Given the description of an element on the screen output the (x, y) to click on. 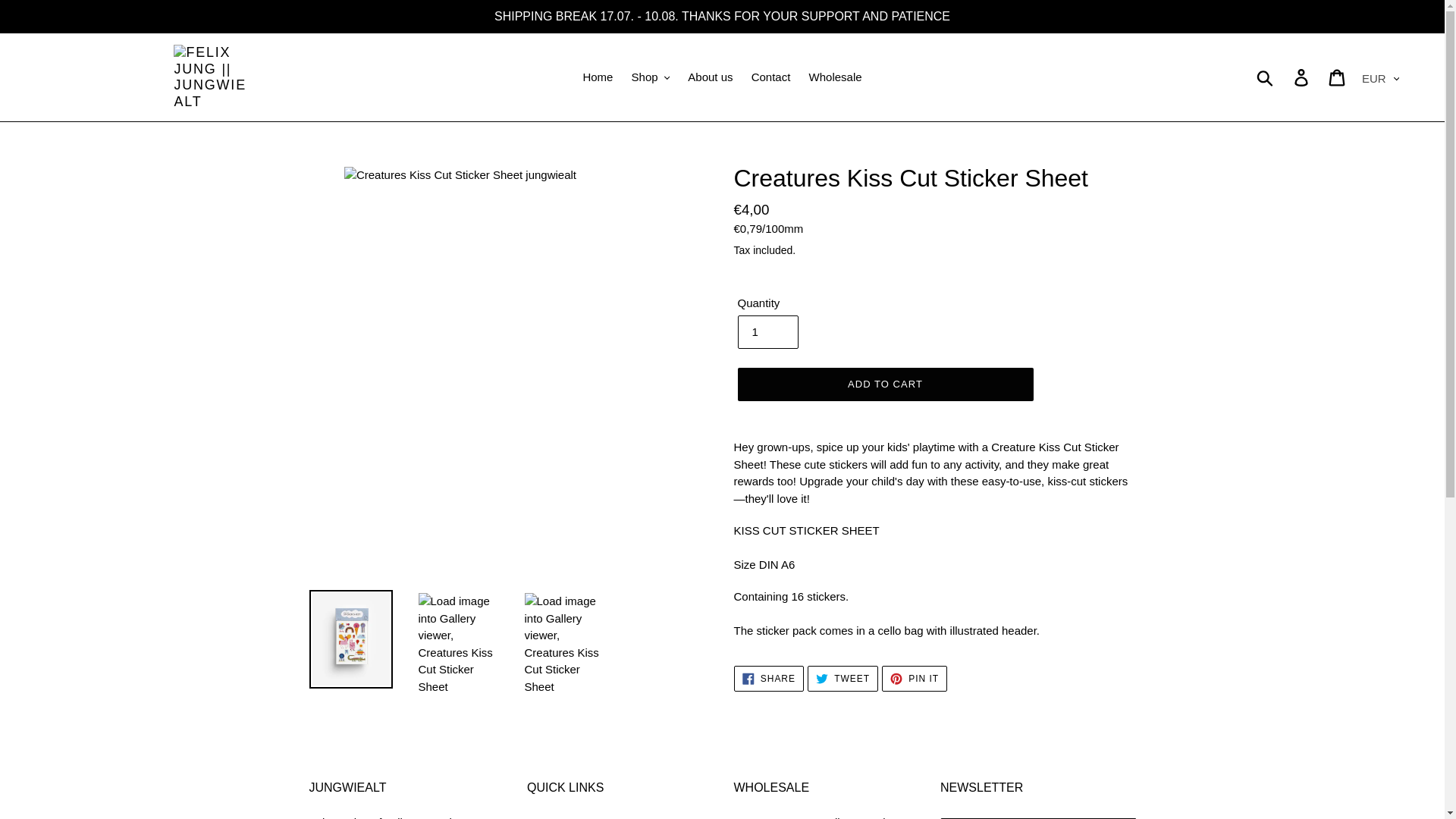
Contact (770, 77)
Wholesale (835, 77)
Submit (1265, 77)
Home (597, 77)
1 (766, 331)
About us (709, 77)
